Given the description of an element on the screen output the (x, y) to click on. 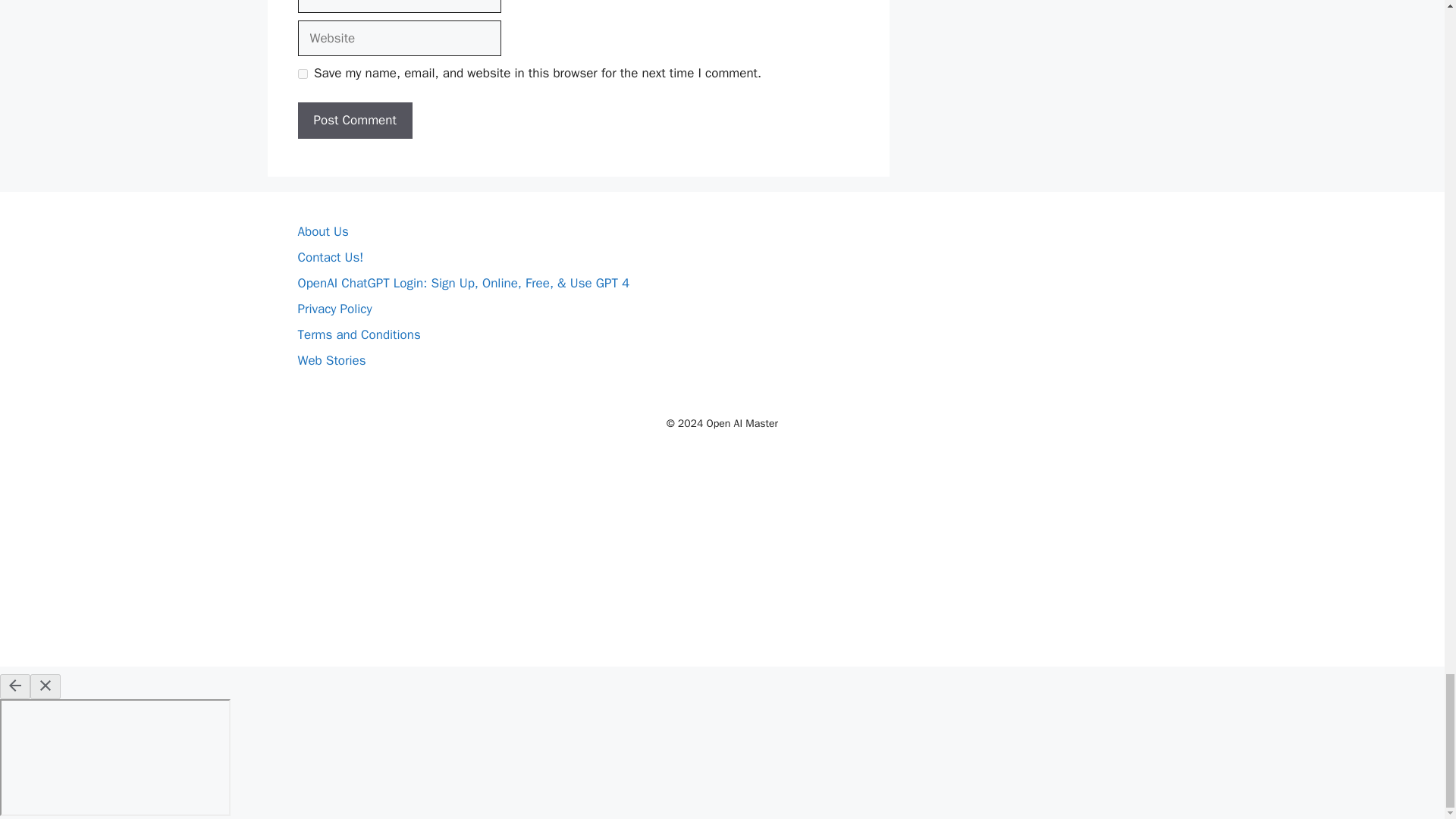
Post Comment (354, 120)
yes (302, 73)
Post Comment (354, 120)
